Given the description of an element on the screen output the (x, y) to click on. 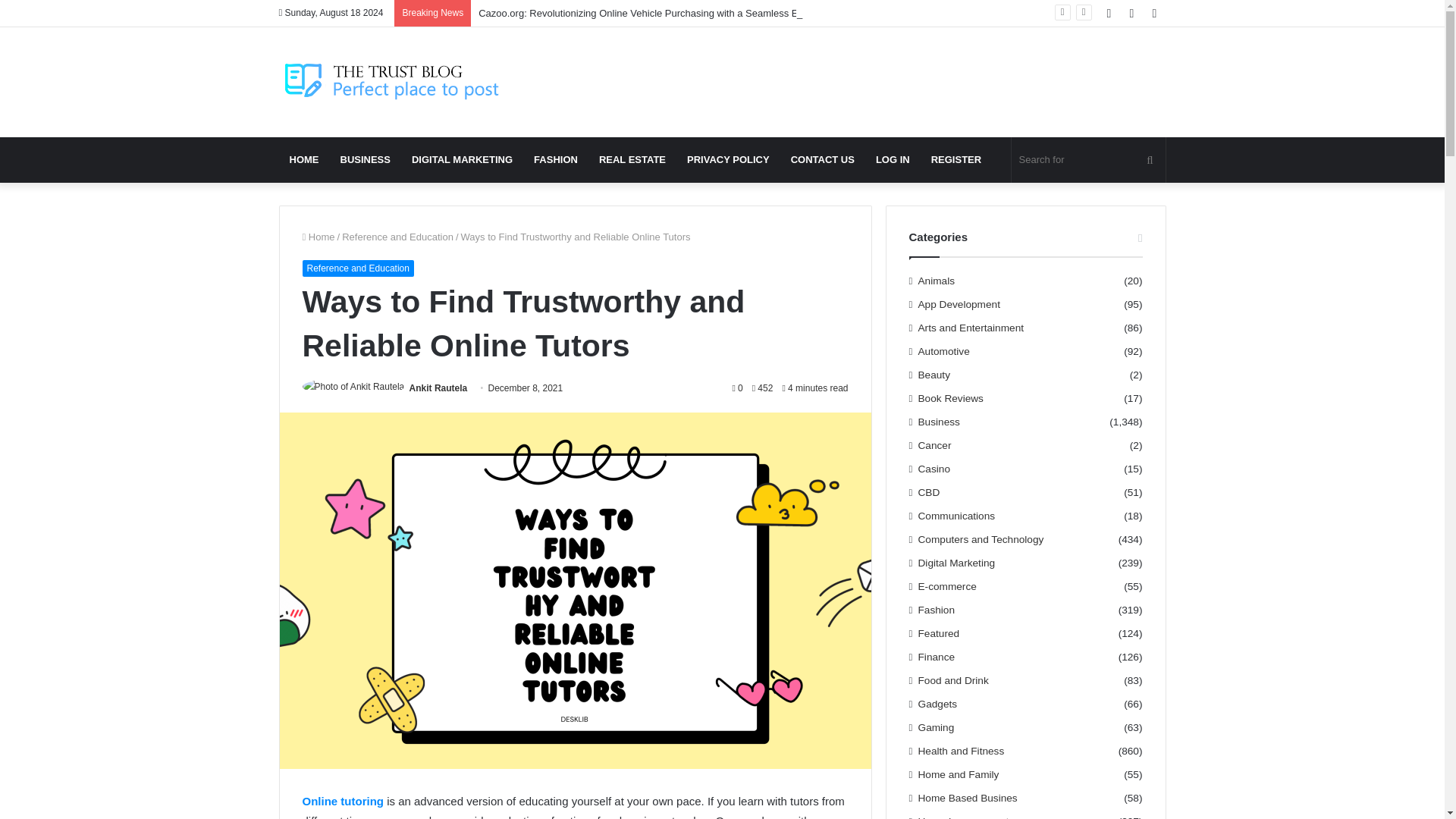
DIGITAL MARKETING (461, 159)
Online tutoring (341, 800)
Home (317, 236)
BUSINESS (364, 159)
REAL ESTATE (632, 159)
Search for (1088, 159)
LOG IN (892, 159)
Reference and Education (357, 268)
Reference and Education (397, 236)
